Given the description of an element on the screen output the (x, y) to click on. 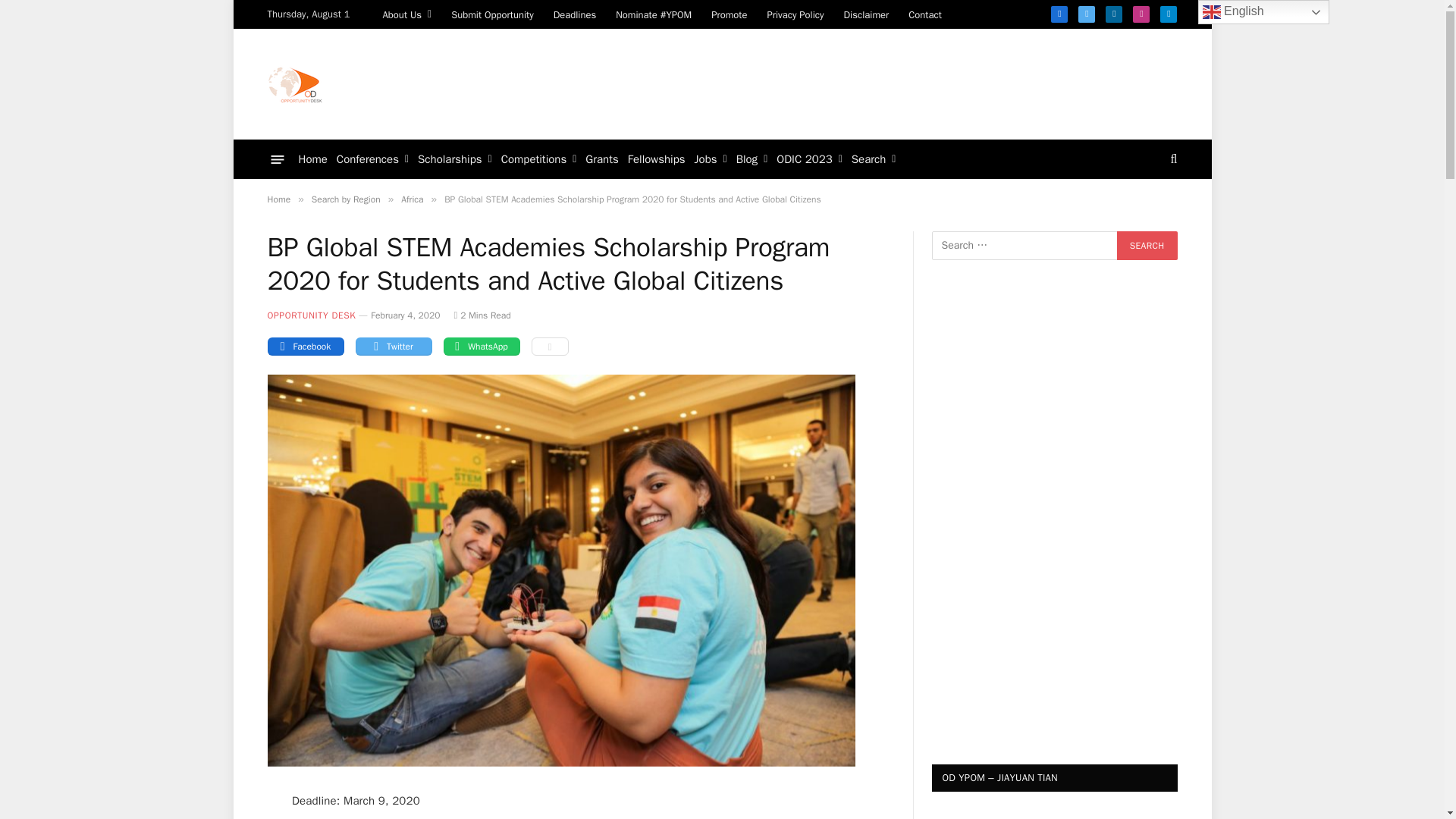
Posts by Opportunity Desk (310, 315)
Share on Facebook (304, 346)
Opportunity Desk (293, 83)
Share on WhatsApp (480, 346)
Search (1146, 245)
Search (1146, 245)
Advertisement (900, 81)
Show More Social Sharing (549, 346)
